Given the description of an element on the screen output the (x, y) to click on. 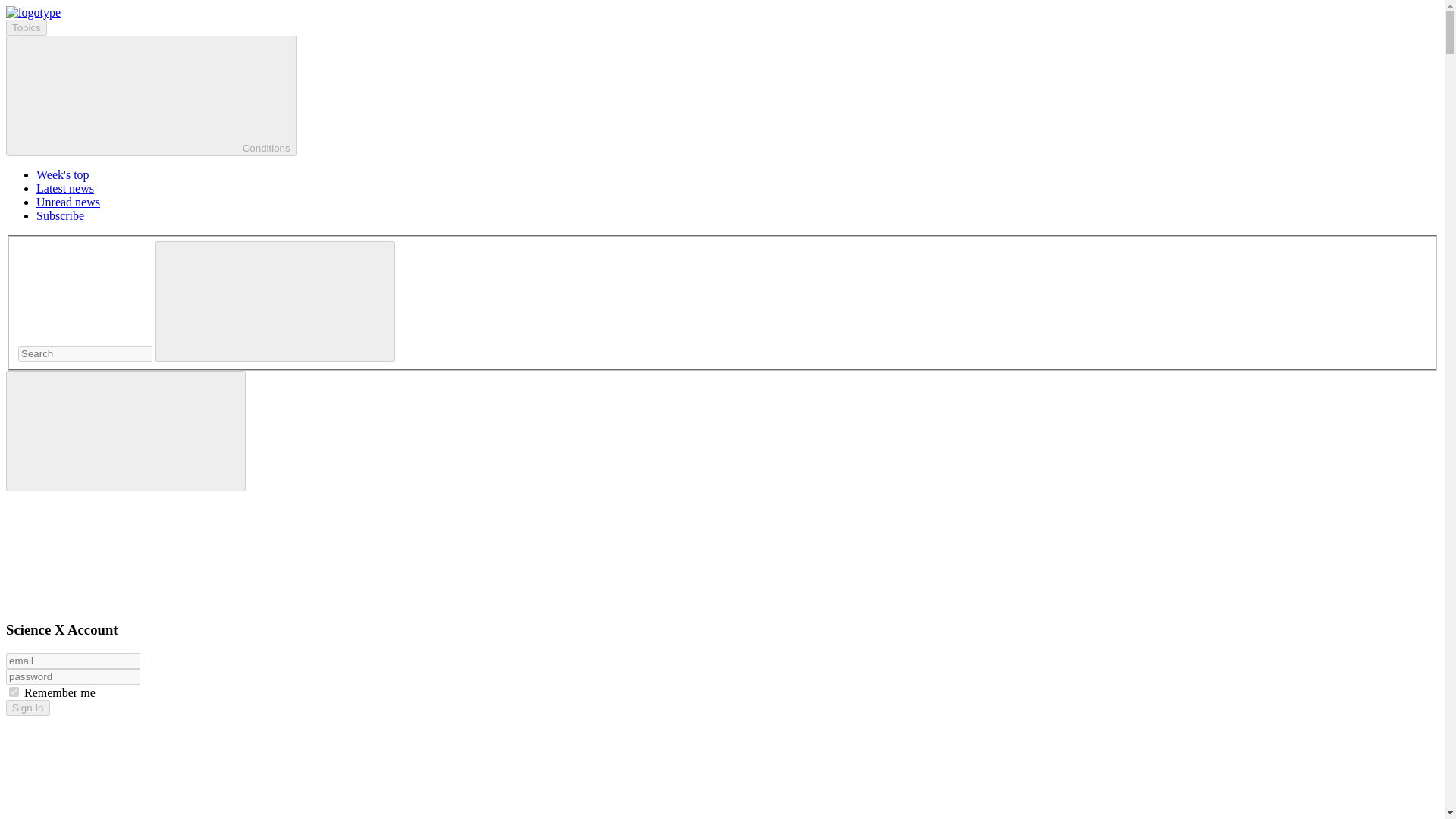
on (13, 691)
Latest news (65, 187)
Topics (25, 27)
Sign In (27, 707)
Unread news (68, 201)
Subscribe (60, 215)
Week's top (62, 174)
Conditions (151, 96)
